Given the description of an element on the screen output the (x, y) to click on. 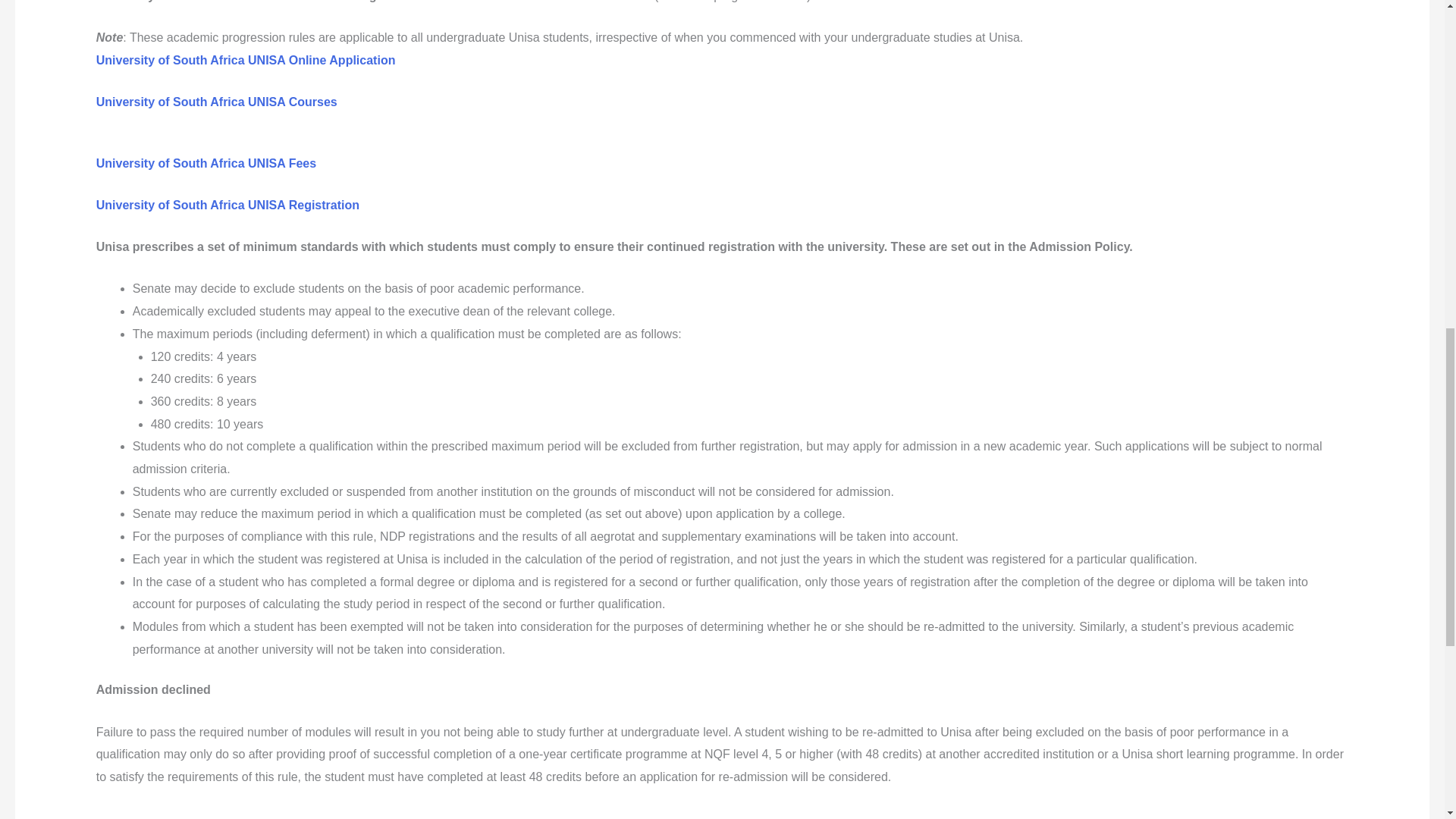
University of South Africa UNISA Courses (216, 101)
University of South Africa UNISA Online Application (246, 60)
University of South Africa UNISA Registration (227, 205)
University of South Africa UNISA Fees (205, 163)
